Given the description of an element on the screen output the (x, y) to click on. 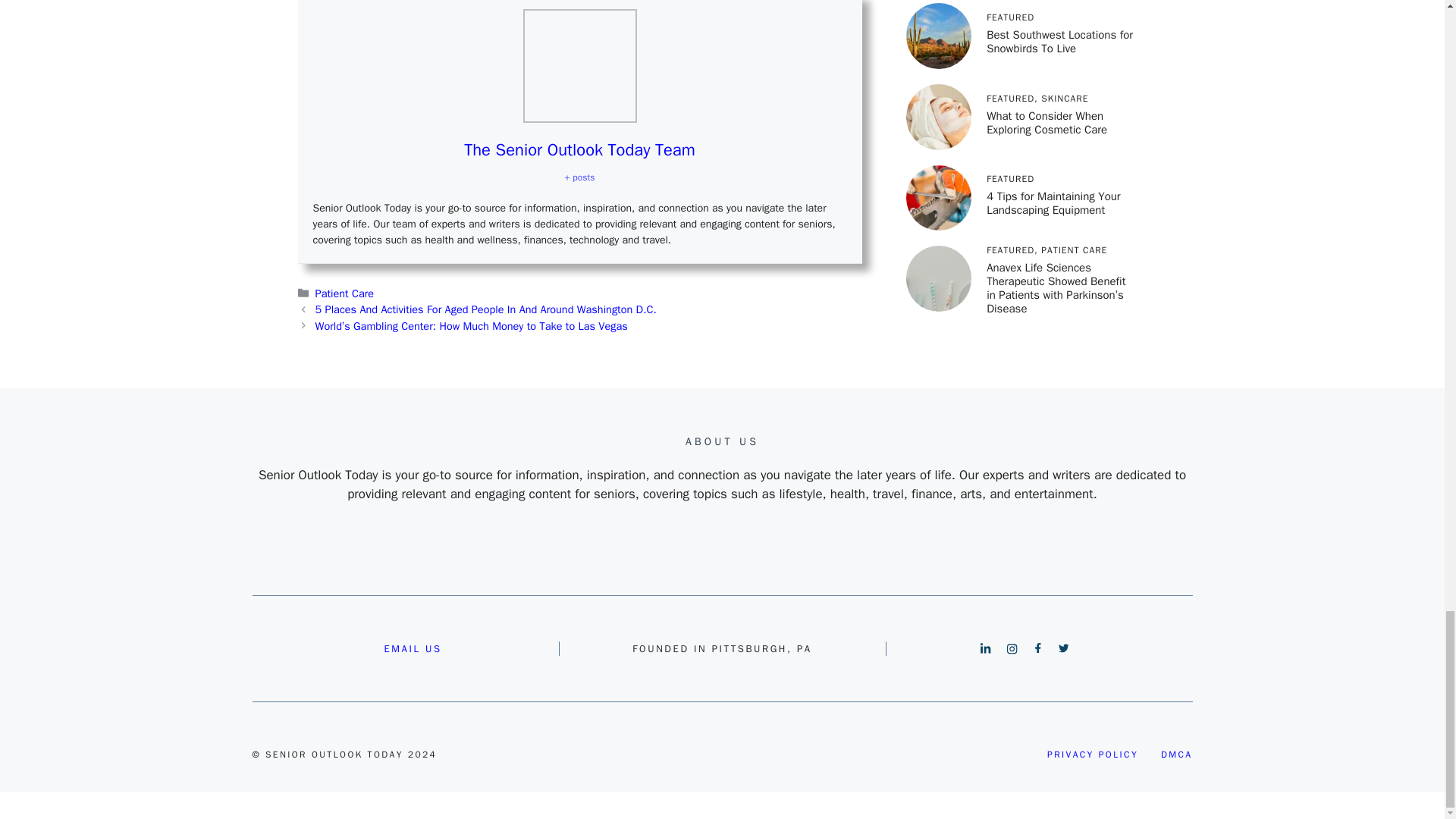
The Senior Outlook Today Team (579, 149)
Weighted Blanket Benefits for the Elderly 3 (579, 65)
Patient Care (344, 293)
